Given the description of an element on the screen output the (x, y) to click on. 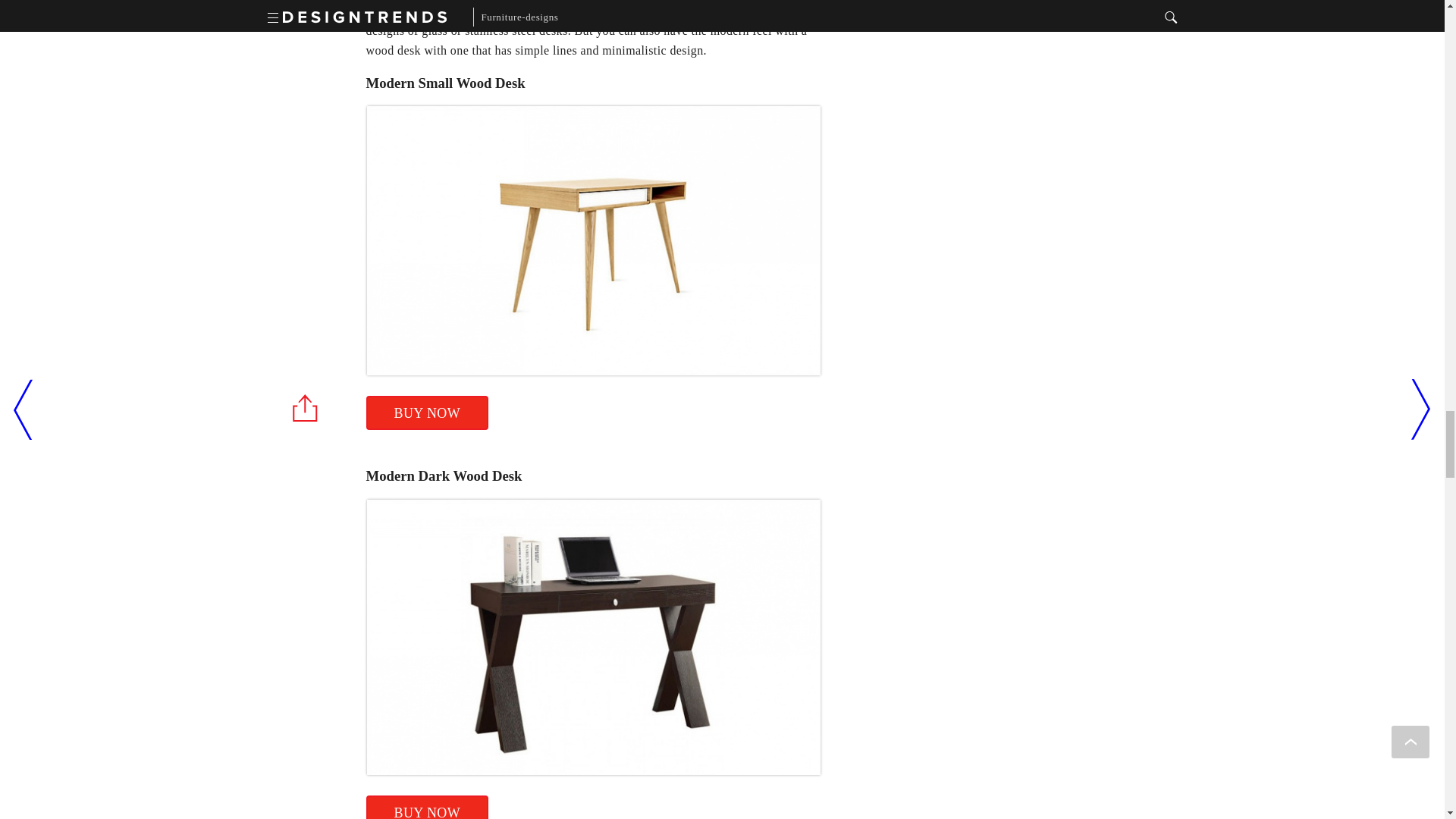
BUY NOW (426, 807)
BUY NOW (426, 412)
